Given the description of an element on the screen output the (x, y) to click on. 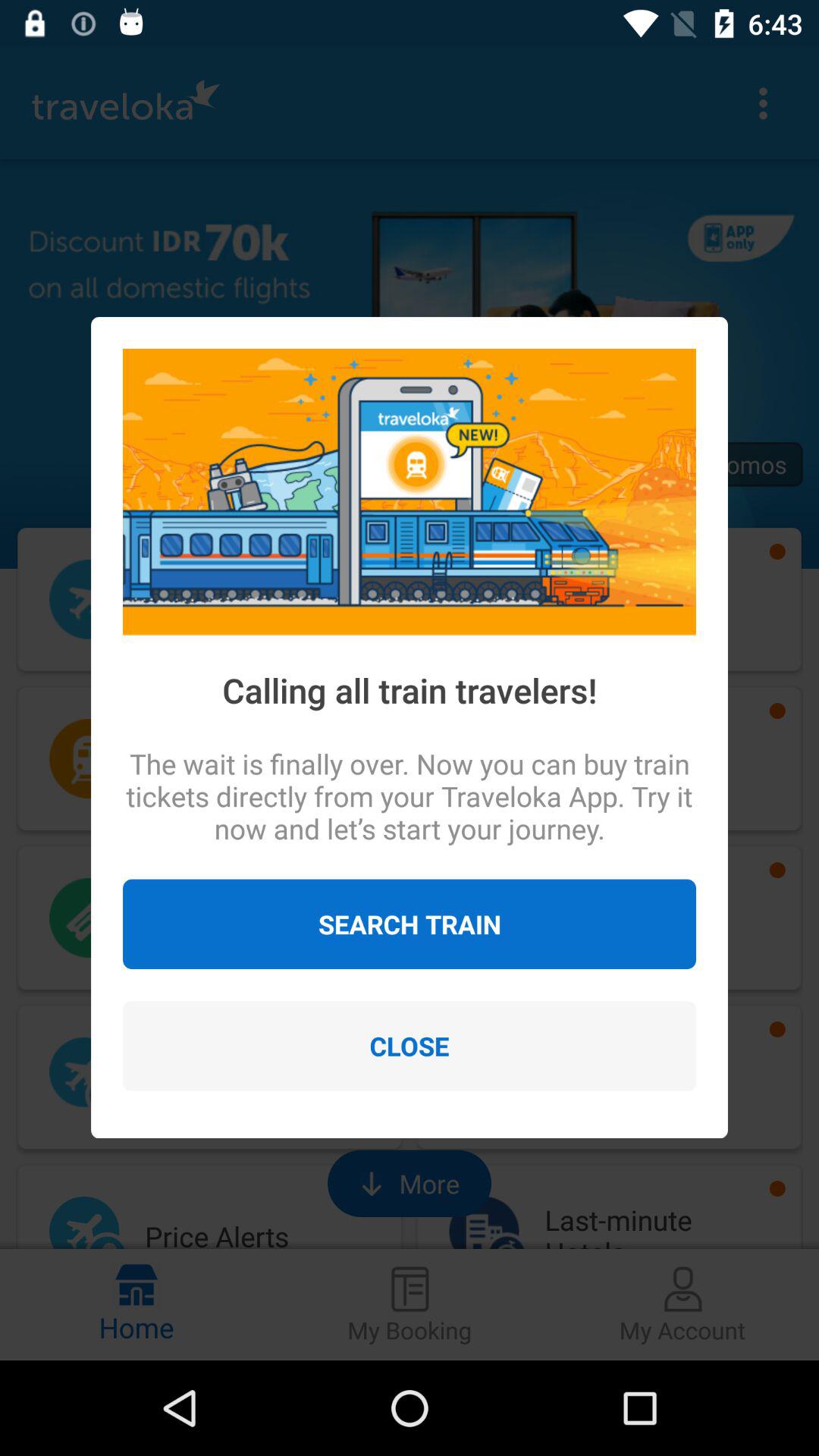
press the close icon (409, 1045)
